Given the description of an element on the screen output the (x, y) to click on. 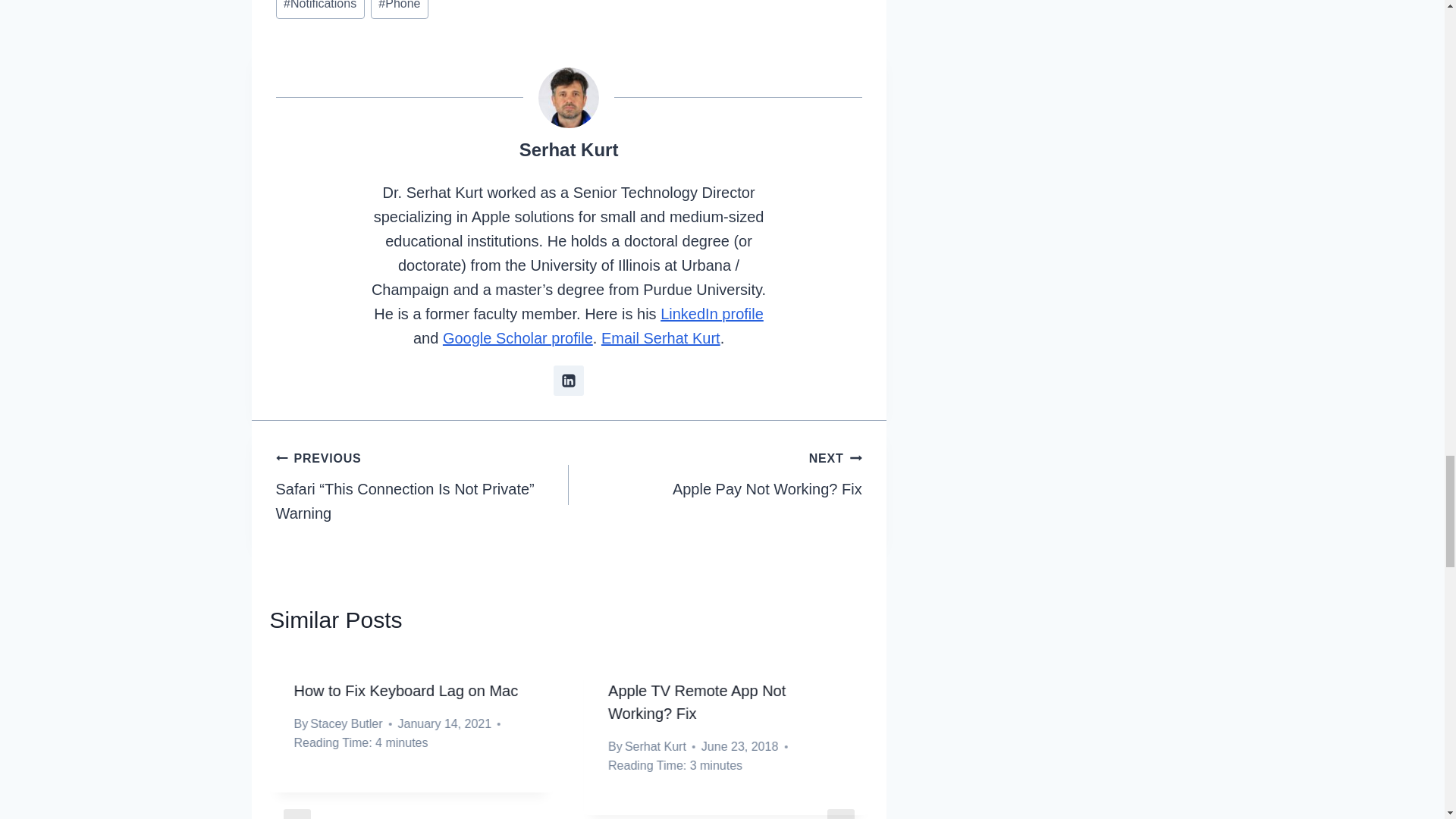
Posts by Serhat Kurt (568, 149)
Serhat Kurt (568, 149)
Follow Serhat Kurt on Linkedin (568, 380)
Phone (399, 9)
Notifications (320, 9)
Google Scholar profile (517, 338)
LinkedIn profile (711, 313)
Email Serhat Kurt (660, 338)
